Given the description of an element on the screen output the (x, y) to click on. 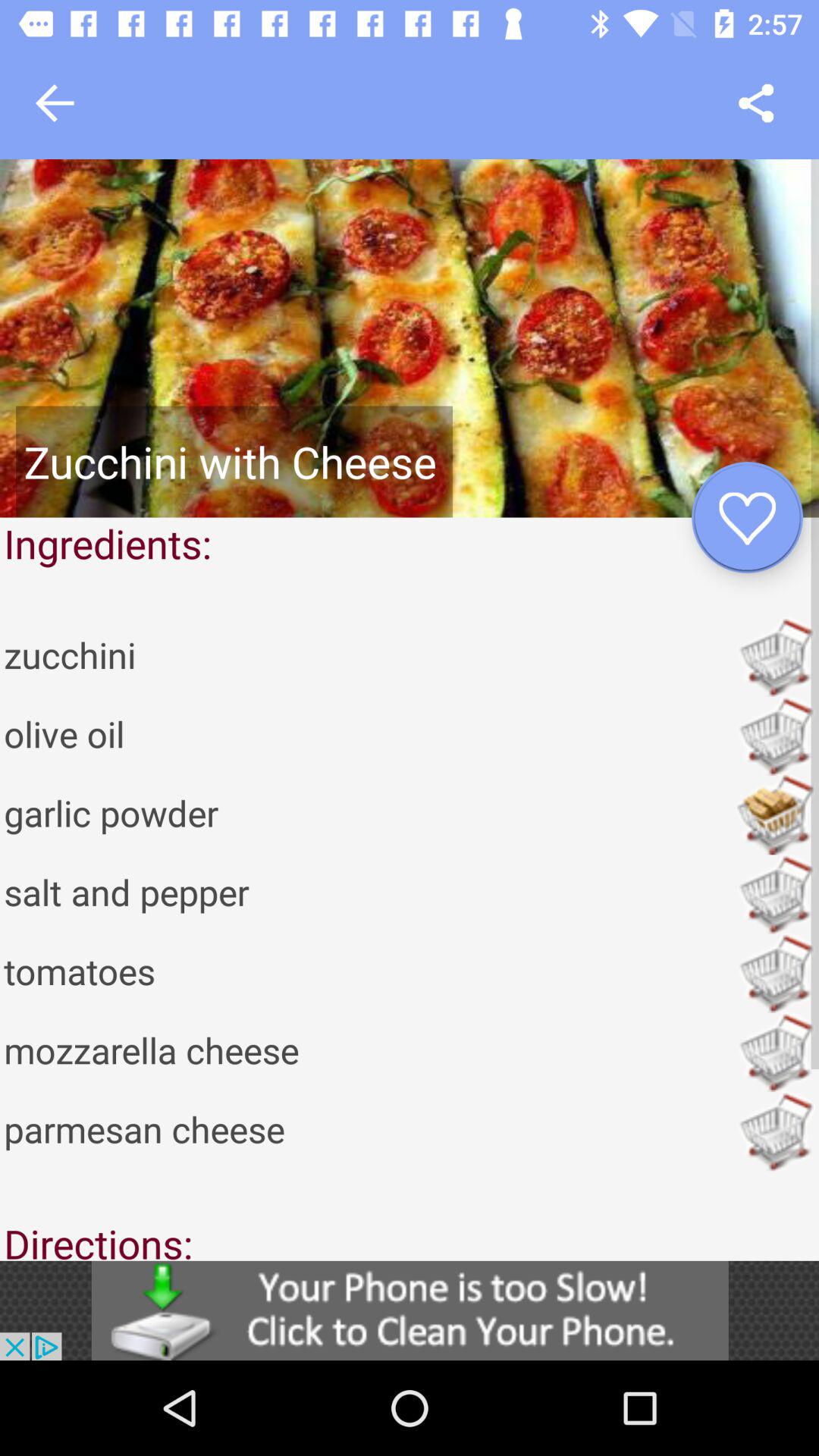
like button (747, 517)
